Given the description of an element on the screen output the (x, y) to click on. 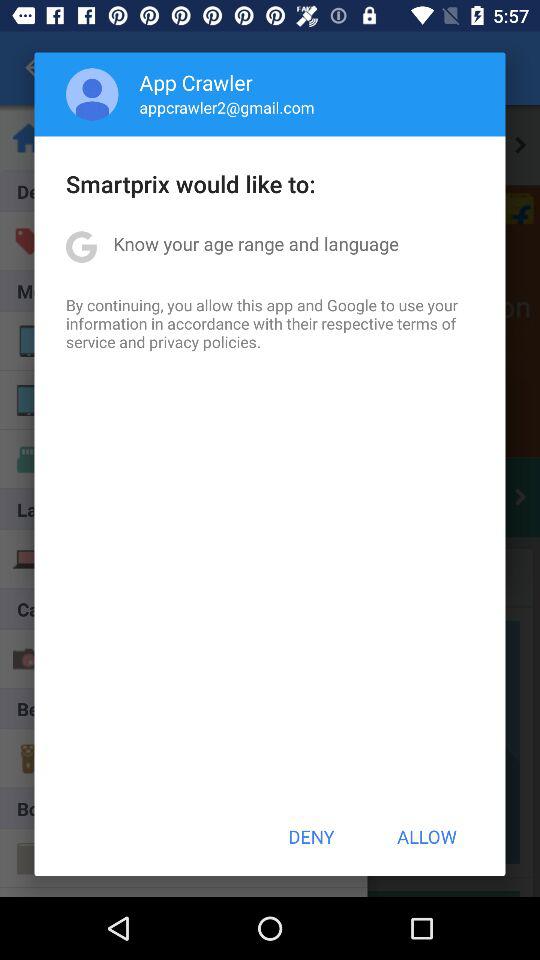
click app above smartprix would like (226, 107)
